Given the description of an element on the screen output the (x, y) to click on. 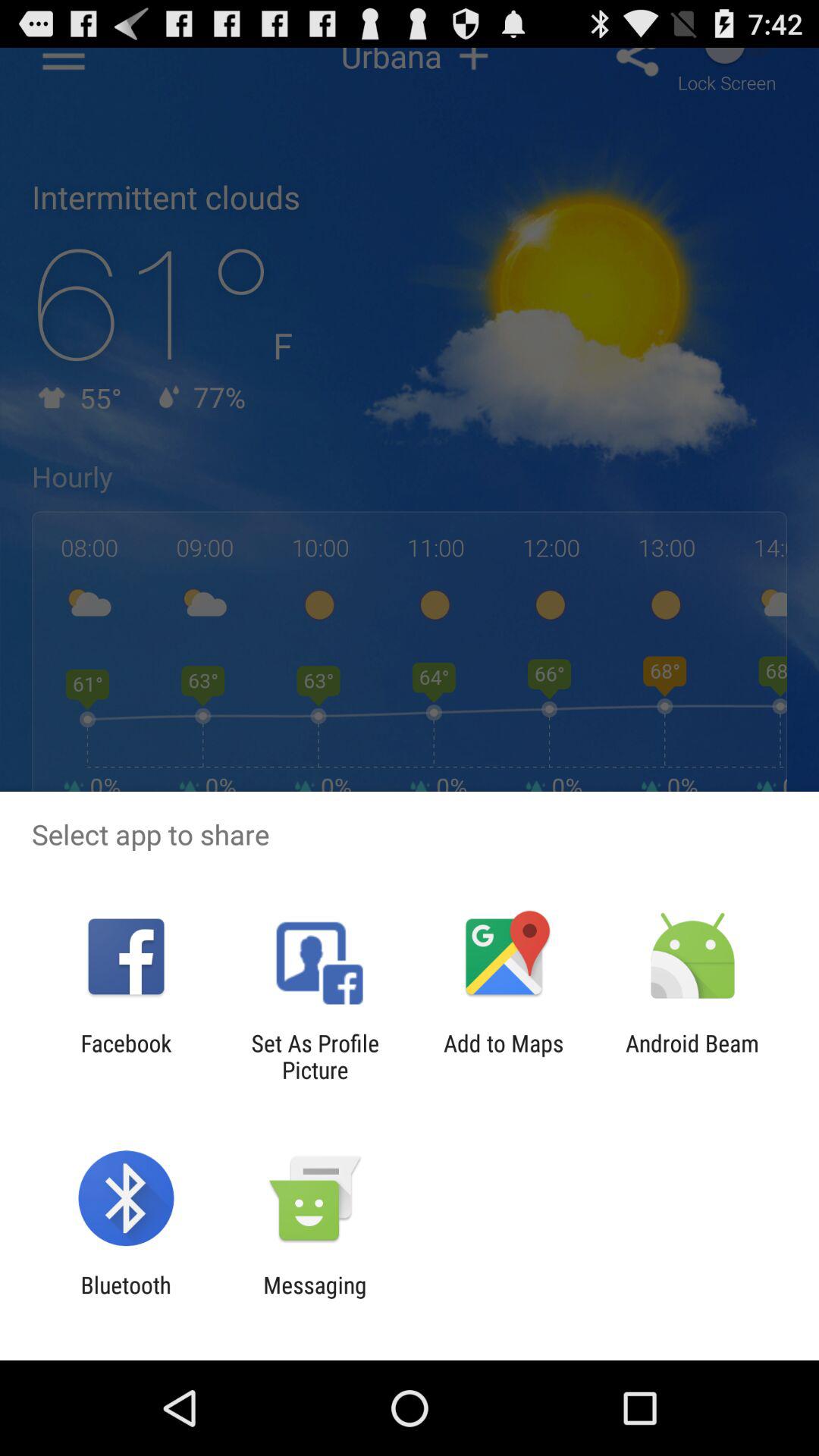
launch the icon next to set as profile item (503, 1056)
